Given the description of an element on the screen output the (x, y) to click on. 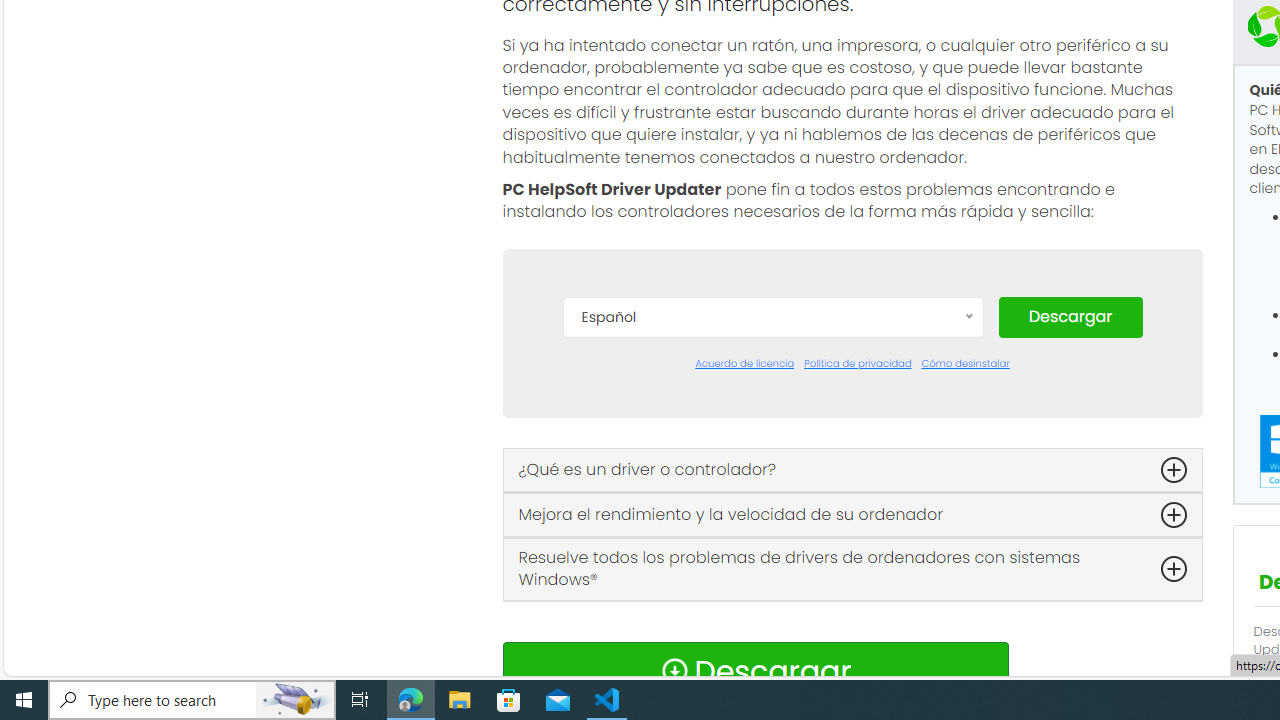
English (772, 501)
